Given the description of an element on the screen output the (x, y) to click on. 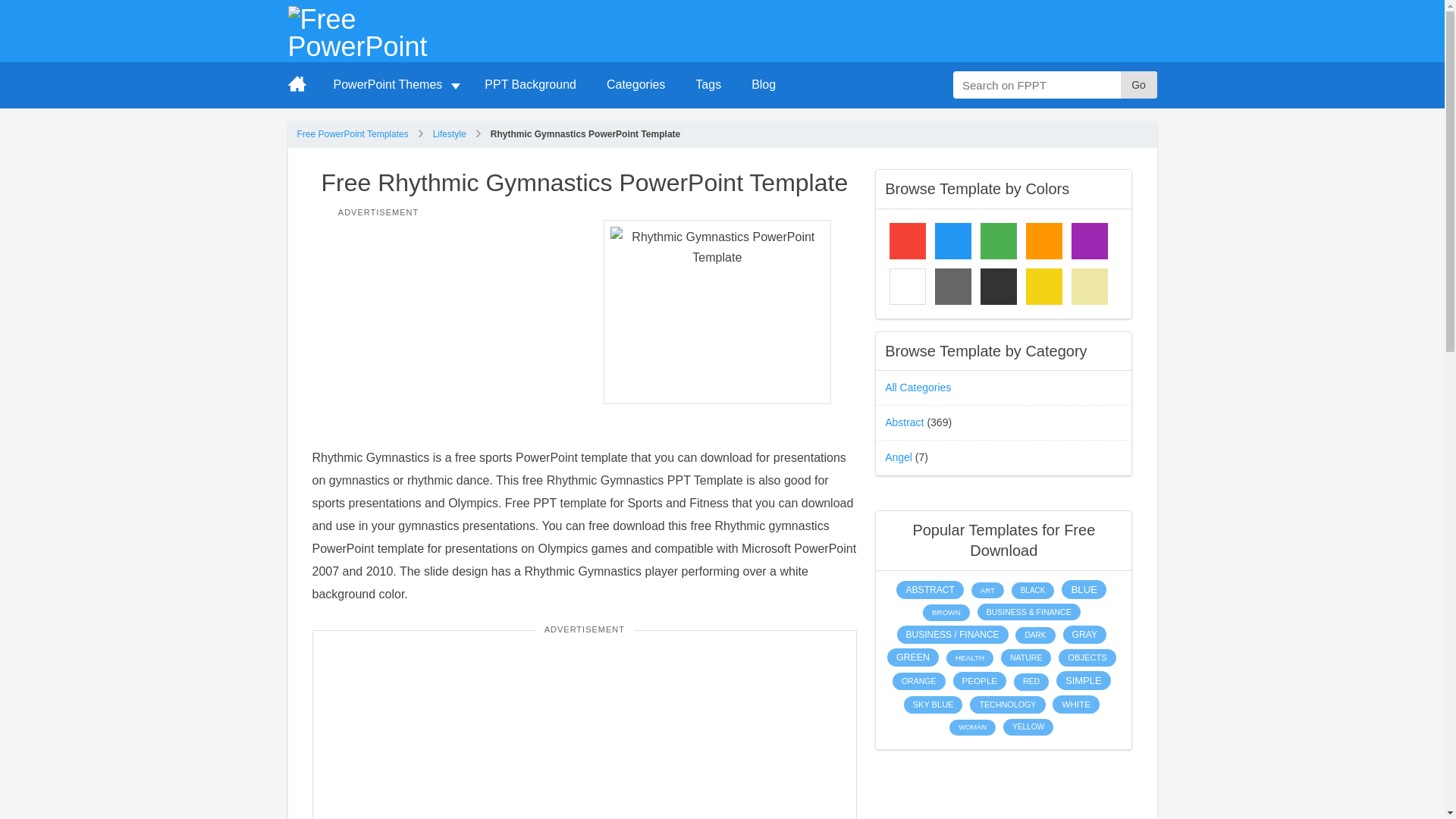
PPT Background (529, 84)
Lifestyle (448, 134)
Go (1139, 84)
Categories (635, 84)
Go (1139, 84)
Blog (763, 84)
Go (1139, 84)
Rhythmic Gymnastics PowerPoint Template (717, 312)
Tags (707, 84)
Free PowerPoint Templates (353, 134)
PowerPoint Themes (394, 84)
